Given the description of an element on the screen output the (x, y) to click on. 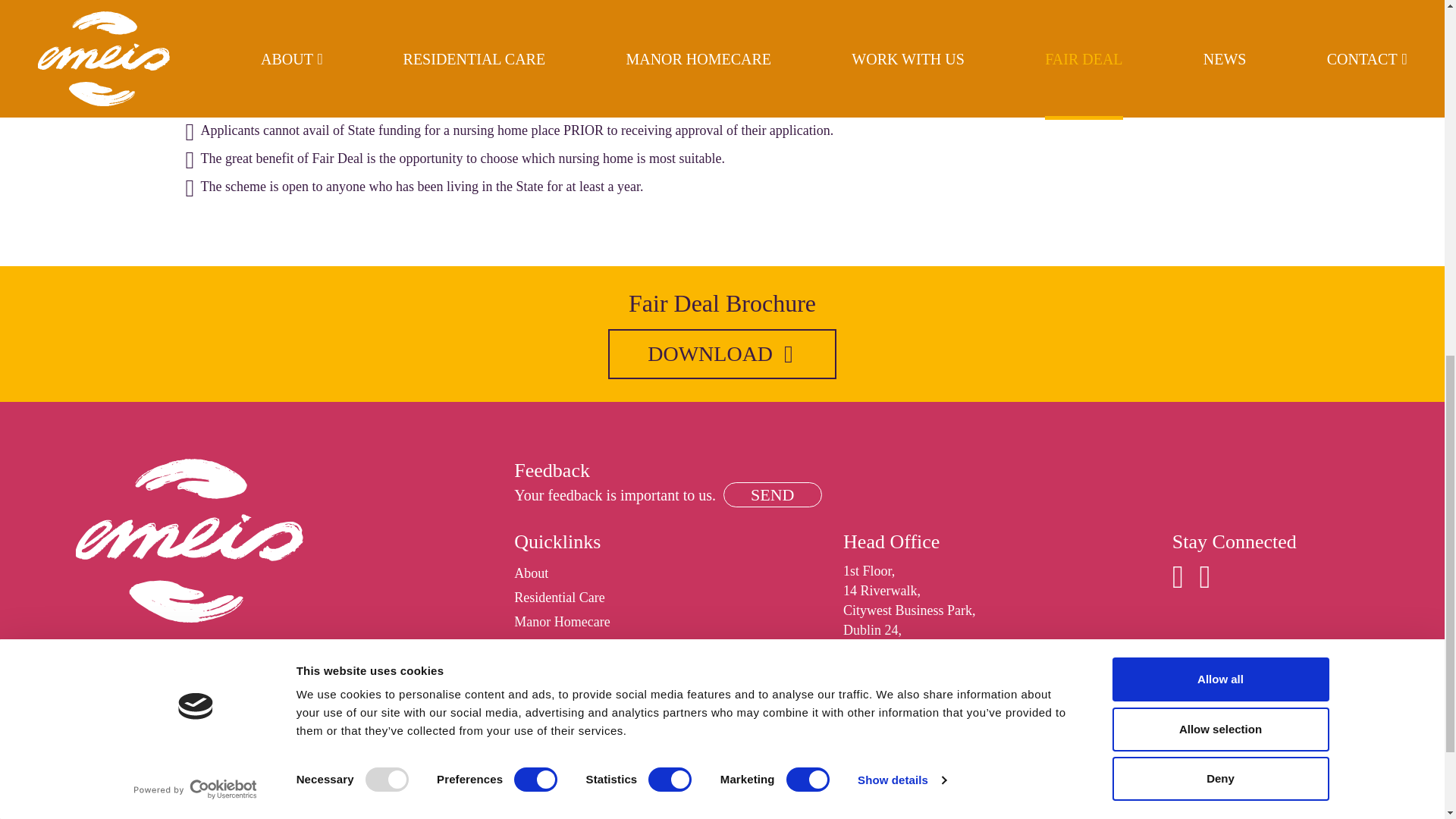
Allow selection (1219, 19)
Show details (900, 68)
Deny (1219, 67)
